Given the description of an element on the screen output the (x, y) to click on. 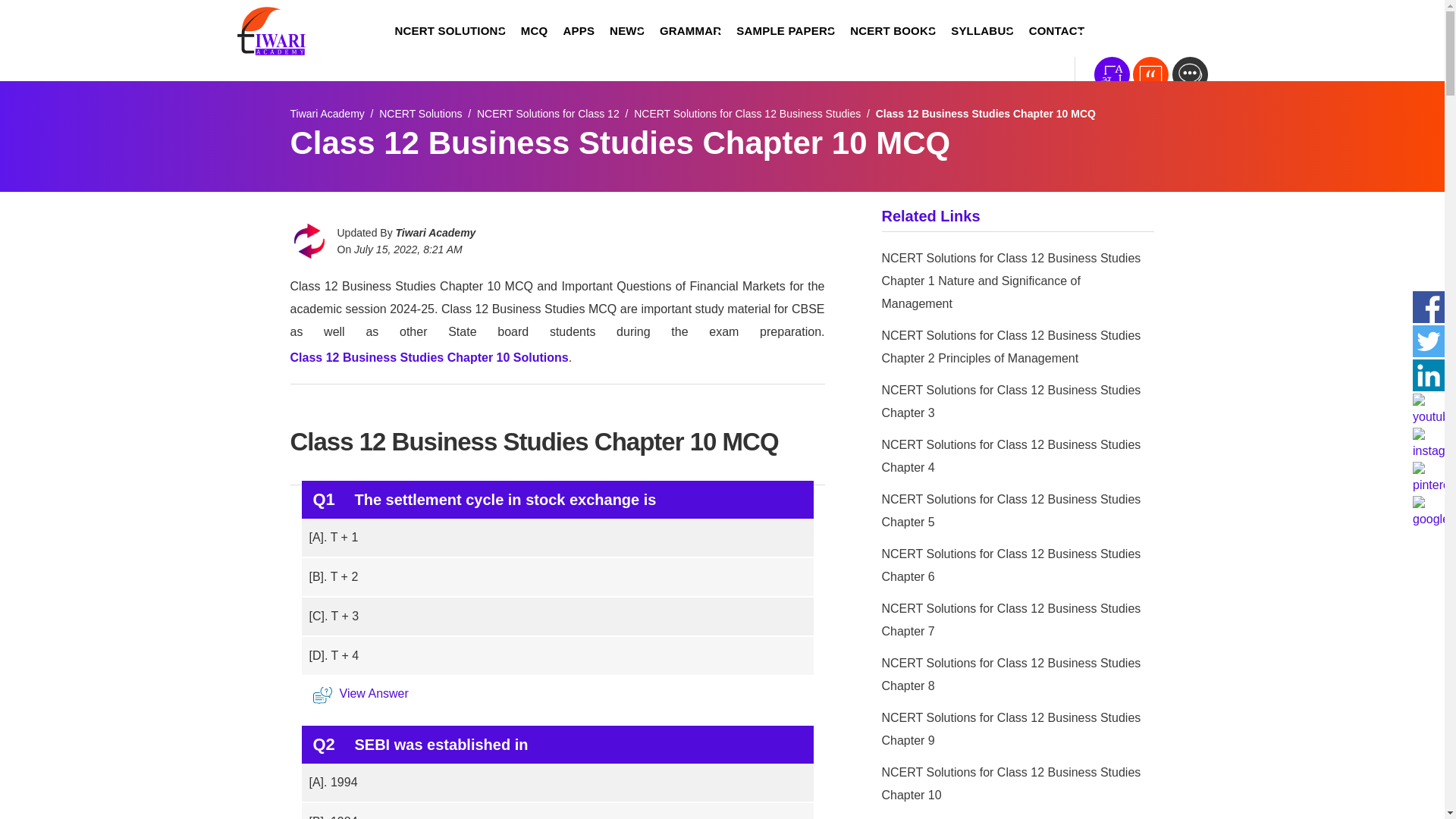
NCERT Solutions for Class 12 Business Studies (746, 113)
Tiwari Academy  - Free CBSE NCERT Books and Solutions (326, 113)
NCERT Solutions for Class 12 Business Studies Chapter 4 (1010, 456)
NCERT Solutions for Class 12 Business Studies Chapter 9 (1010, 728)
NCERT Solutions (419, 113)
NCERT SOLUTIONS (449, 30)
NCERT Solutions for Class 12 Business Studies Chapter 7 (1010, 619)
NCERT Solutions for Class 12 Business Studies Chapter 6 (1010, 565)
